Given the description of an element on the screen output the (x, y) to click on. 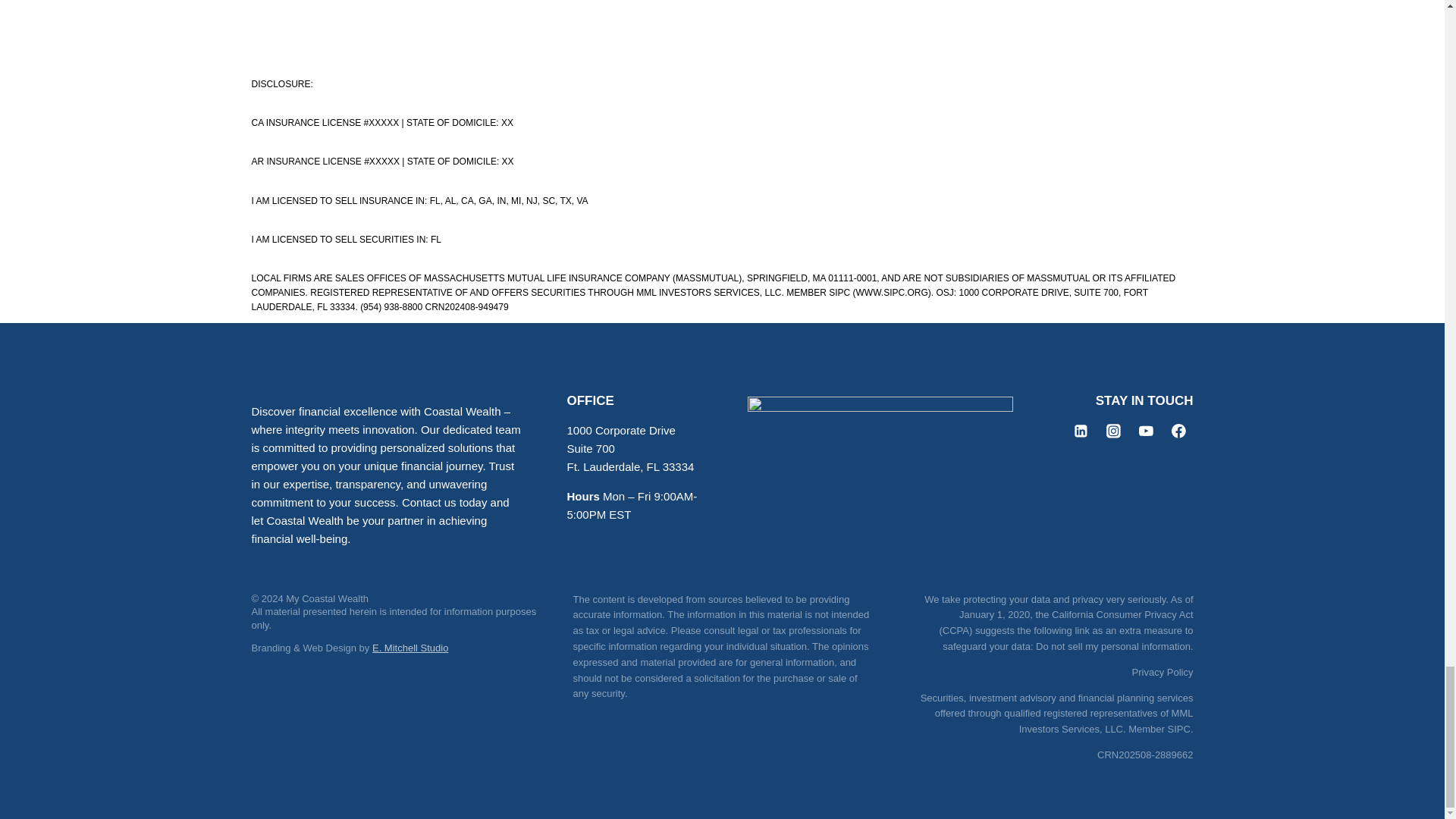
SIPC (1179, 728)
E. Mitchell Studio (410, 647)
Privacy Policy (1162, 672)
Do not sell my personal information (1113, 645)
